Given the description of an element on the screen output the (x, y) to click on. 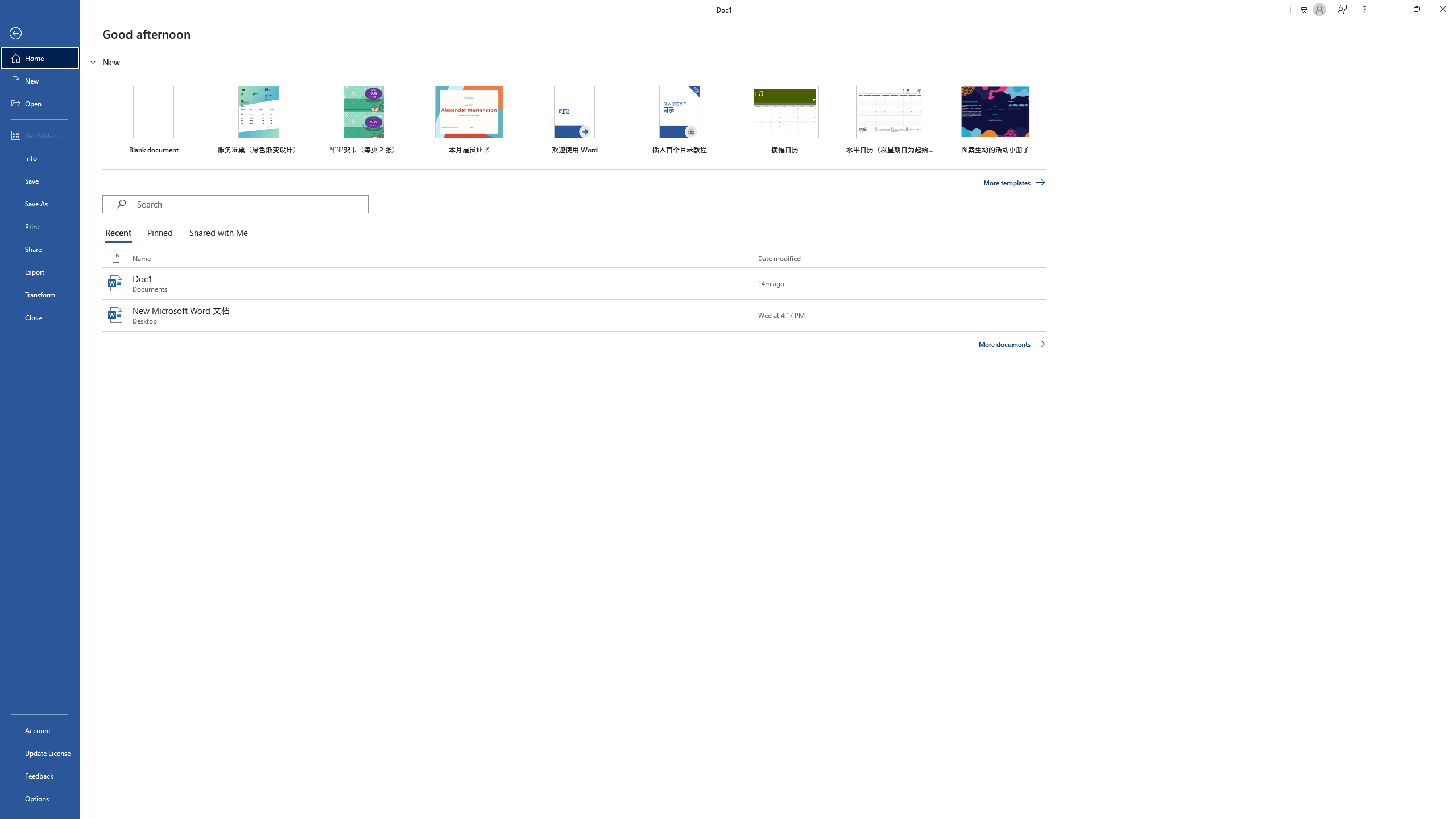
More documents (1011, 343)
Pinned (159, 233)
Blank document (153, 119)
Print (40, 225)
Options (40, 798)
More templates (1014, 182)
